Given the description of an element on the screen output the (x, y) to click on. 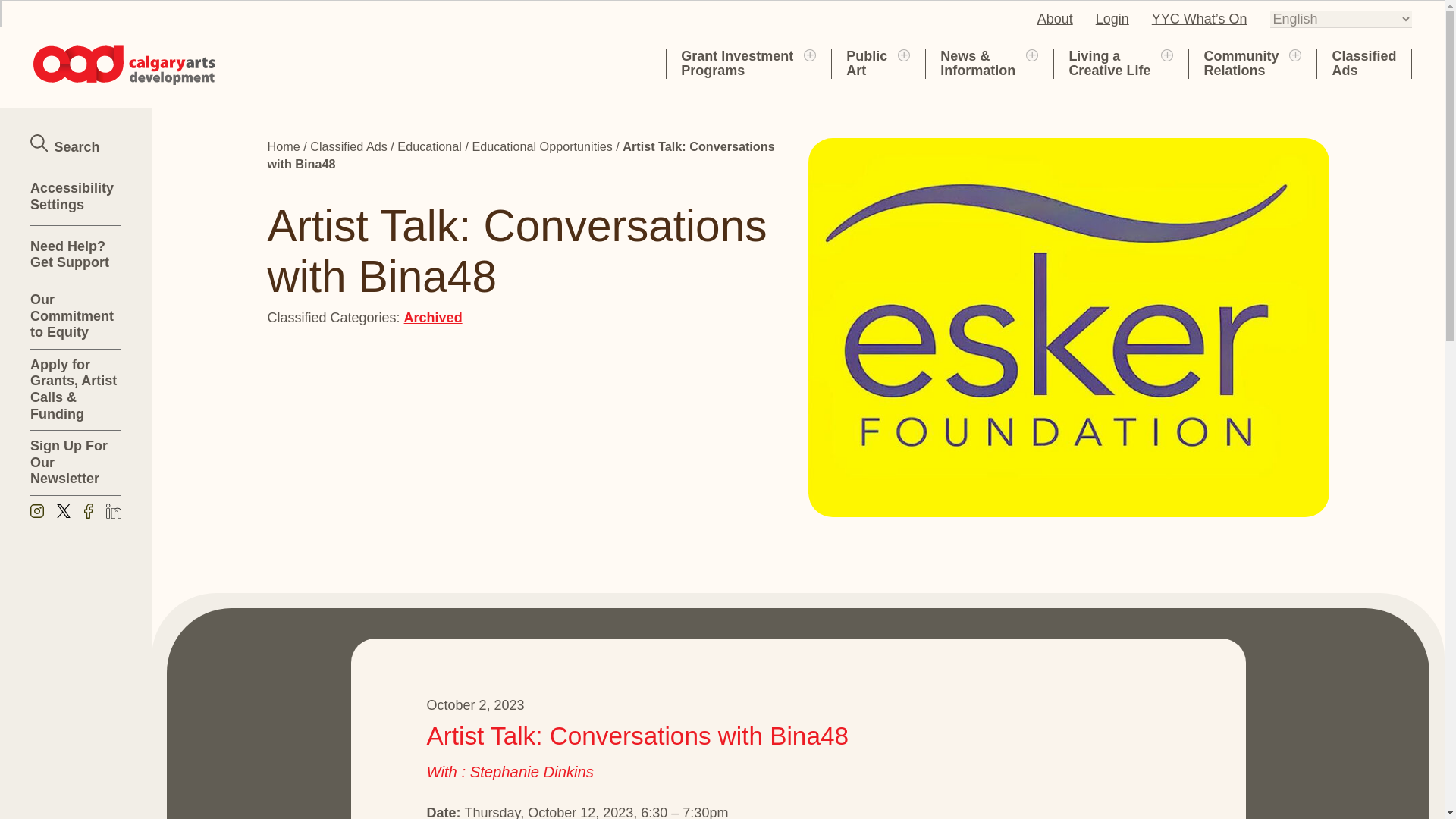
Expand Grant Investment Programs Submenu (809, 54)
Expand Community Relations Submenu (865, 63)
Expand Living a Creative Life Submenu (1294, 54)
Twitter (1166, 54)
Facebook (62, 513)
Login (737, 63)
LinkedIn (88, 513)
Expand Public Art Submenu (1112, 17)
About (1109, 63)
Instagram (113, 513)
Archived (904, 54)
